Given the description of an element on the screen output the (x, y) to click on. 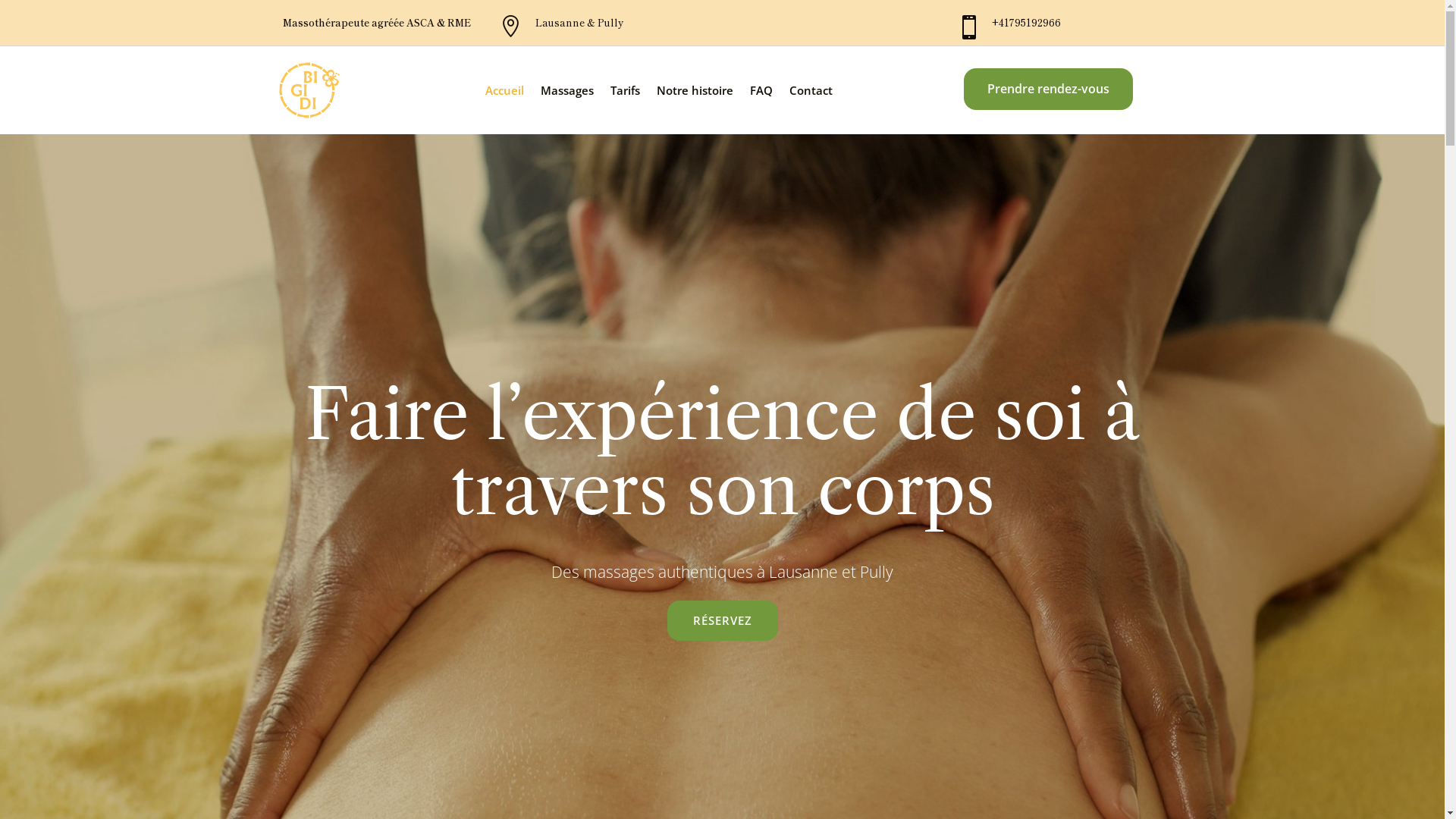
Prendre rendez-vous Element type: text (1047, 88)
Tarifs Element type: text (625, 90)
Accueil Element type: text (504, 90)
FAQ Element type: text (760, 90)
Contact Element type: text (810, 90)
Massages Element type: text (566, 90)
Notre histoire Element type: text (694, 90)
